Given the description of an element on the screen output the (x, y) to click on. 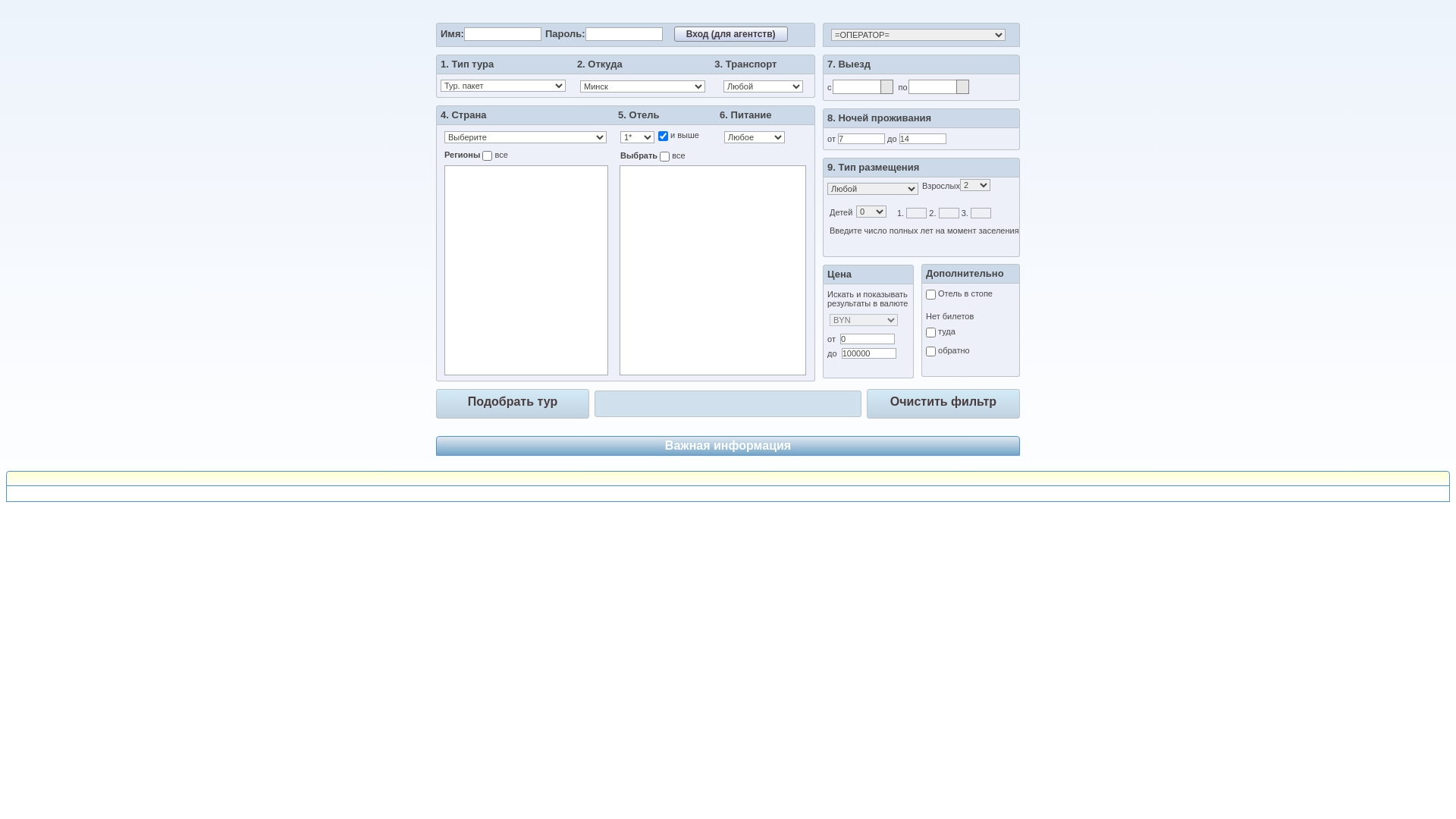
on Element type: text (663, 136)
  Element type: text (727, 493)
on Element type: text (487, 155)
on Element type: text (664, 156)
